Given the description of an element on the screen output the (x, y) to click on. 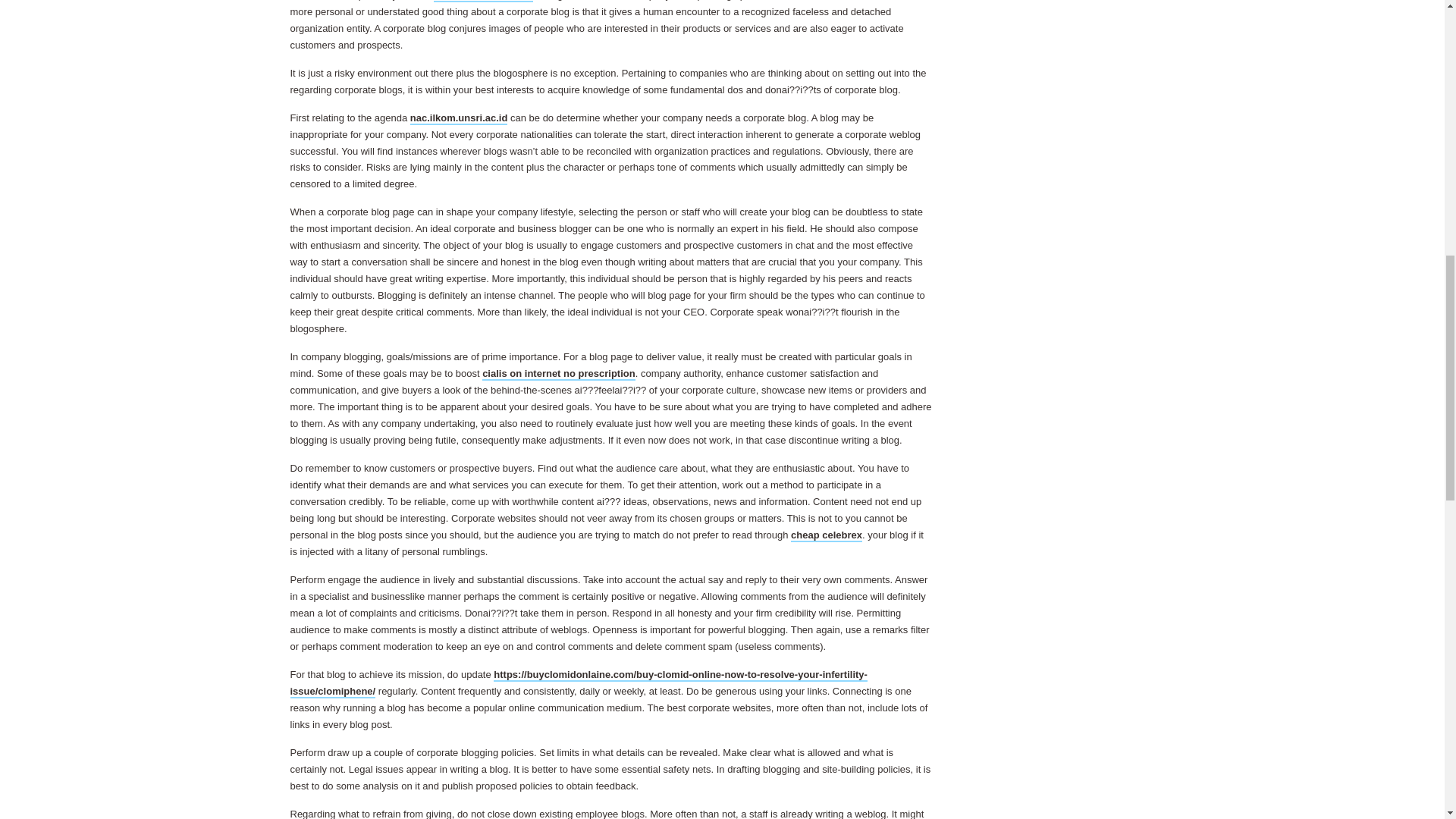
cialis on internet no prescription (557, 373)
nac.ilkom.unsri.ac.id (459, 118)
who sells flomax oral (483, 1)
cheap celebrex (825, 535)
